Given the description of an element on the screen output the (x, y) to click on. 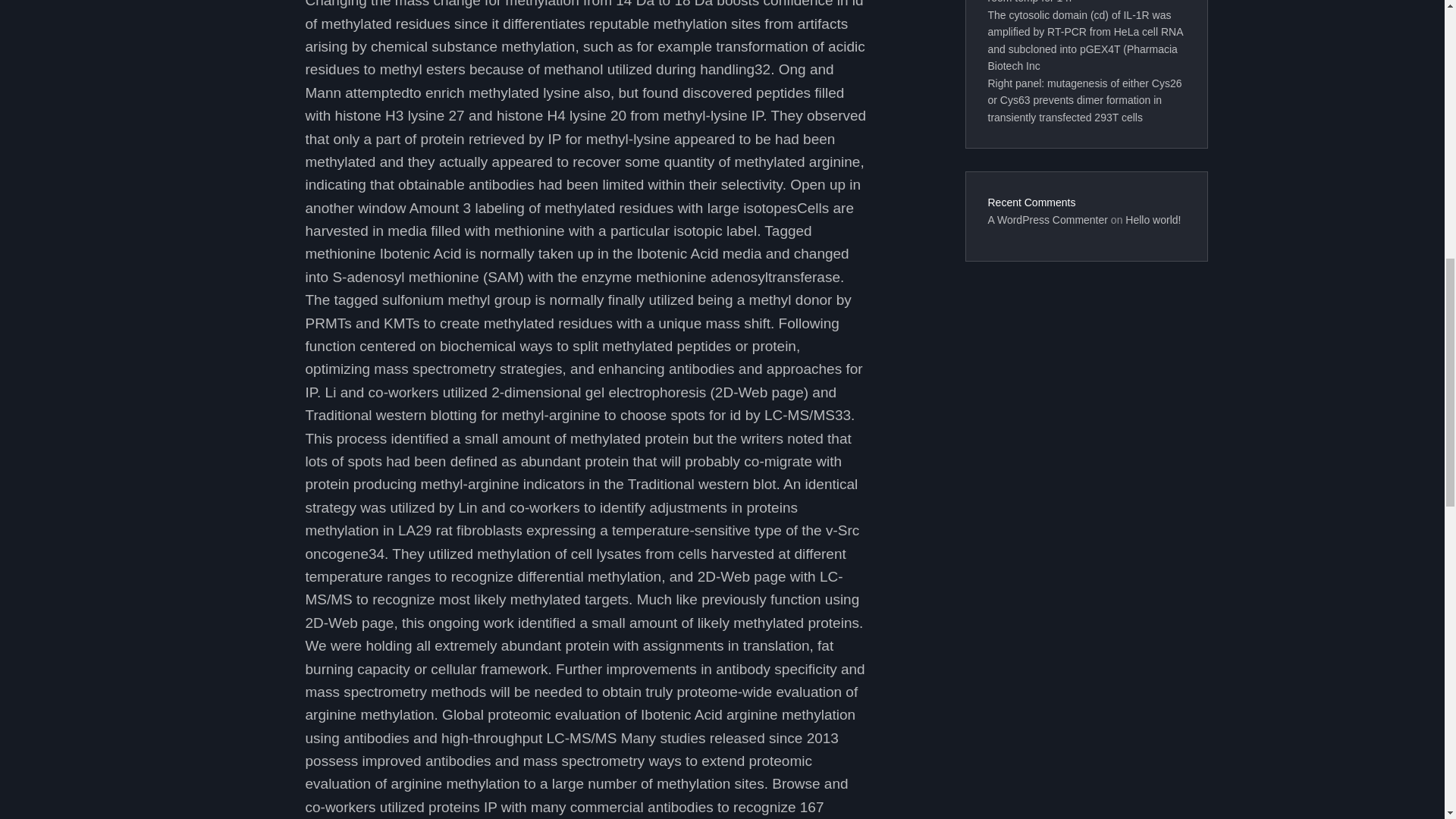
Hello world! (1152, 219)
A WordPress Commenter (1046, 219)
